Given the description of an element on the screen output the (x, y) to click on. 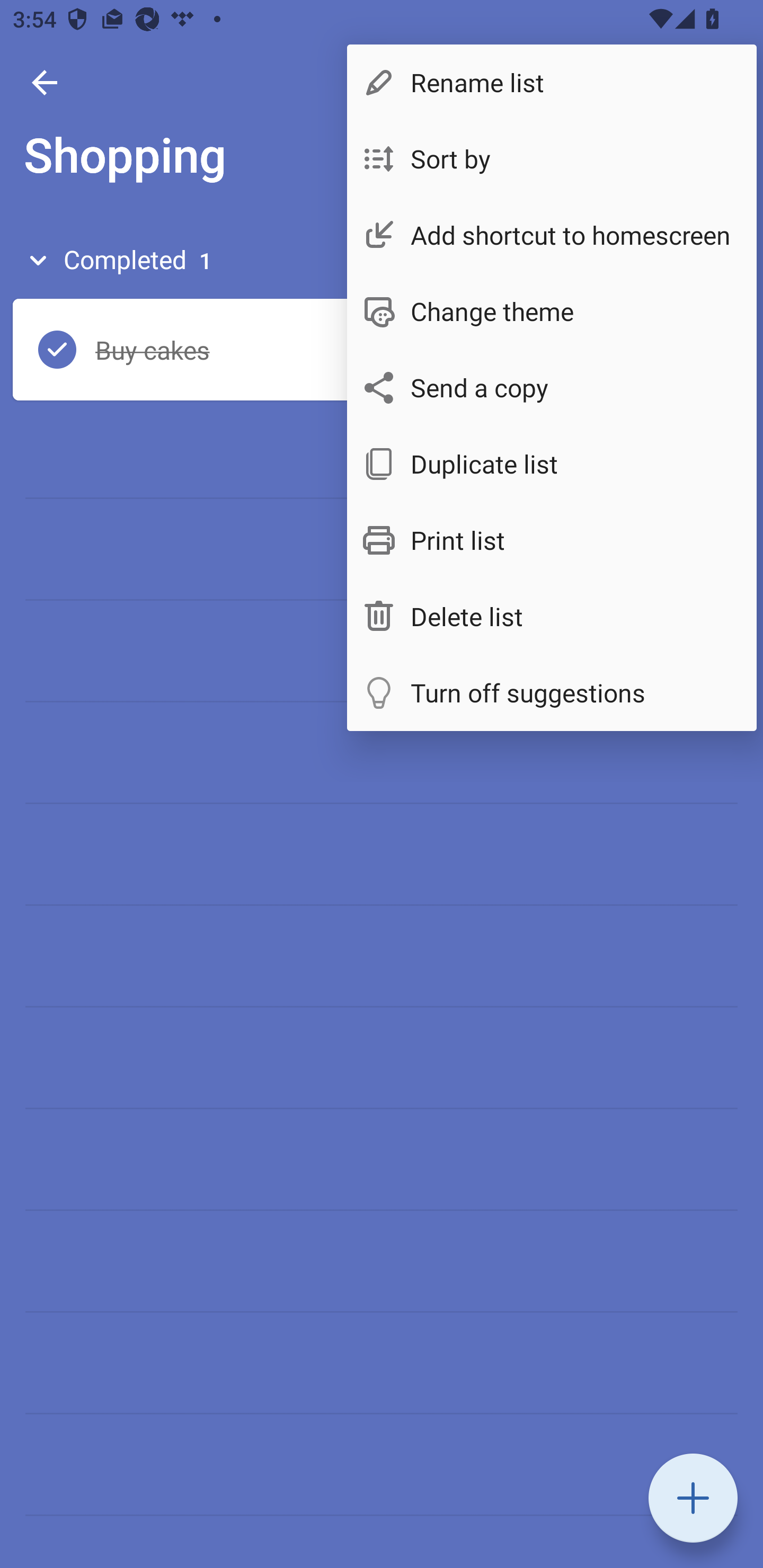
Delete list8 in 9 Delete list (551, 616)
